Given the description of an element on the screen output the (x, y) to click on. 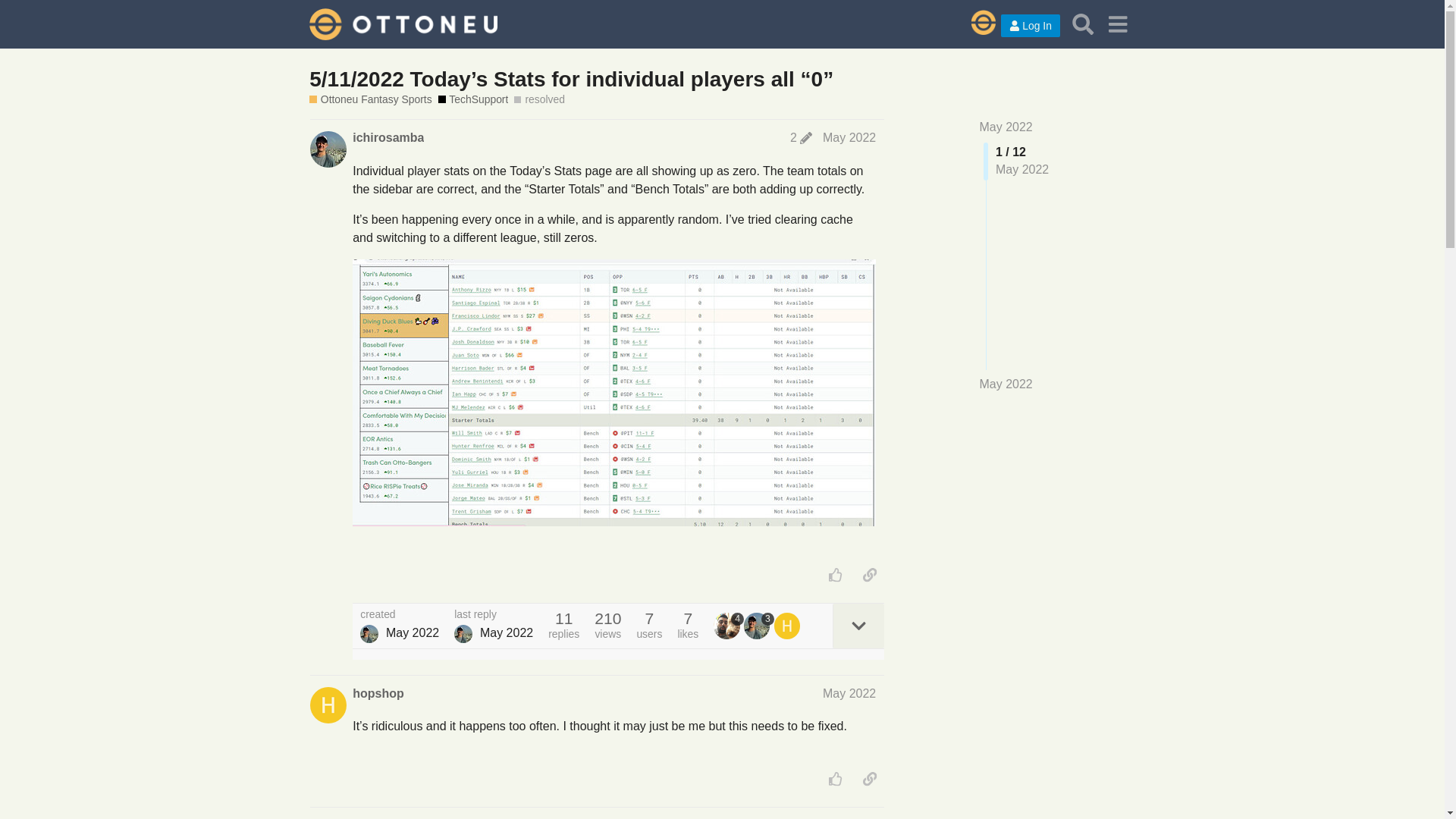
Search (1082, 23)
menu (1117, 23)
3 (759, 625)
Ottoneu Fantasy Sports (369, 99)
May 2022 (849, 137)
2 (801, 137)
Post date (849, 137)
g00s3 (369, 818)
last reply (493, 614)
Log In (1030, 25)
4 (728, 625)
Your Ottoneu User Dashboard (975, 24)
resolved (538, 99)
May 11, 2022 6:54 pm (412, 632)
